Given the description of an element on the screen output the (x, y) to click on. 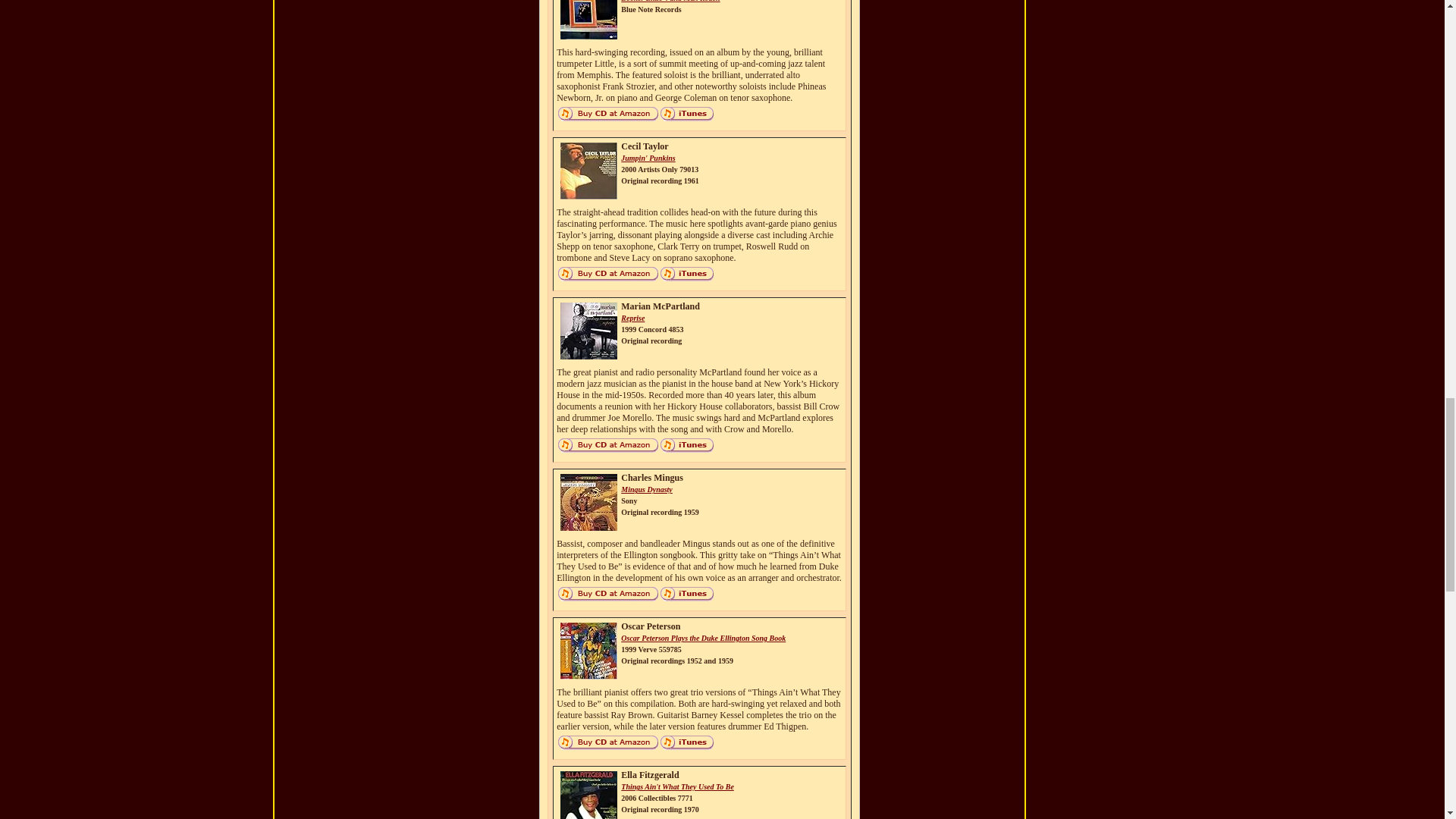
Click here for more information at Amazon.com (607, 279)
Click here for more information at Amazon.com (648, 157)
Click here for more information at Amazon.com (633, 317)
Click here for more information at Amazon.com (607, 450)
Click here for more information at Amazon.com (607, 119)
Click here for more information at Amazon.com (670, 1)
